Given the description of an element on the screen output the (x, y) to click on. 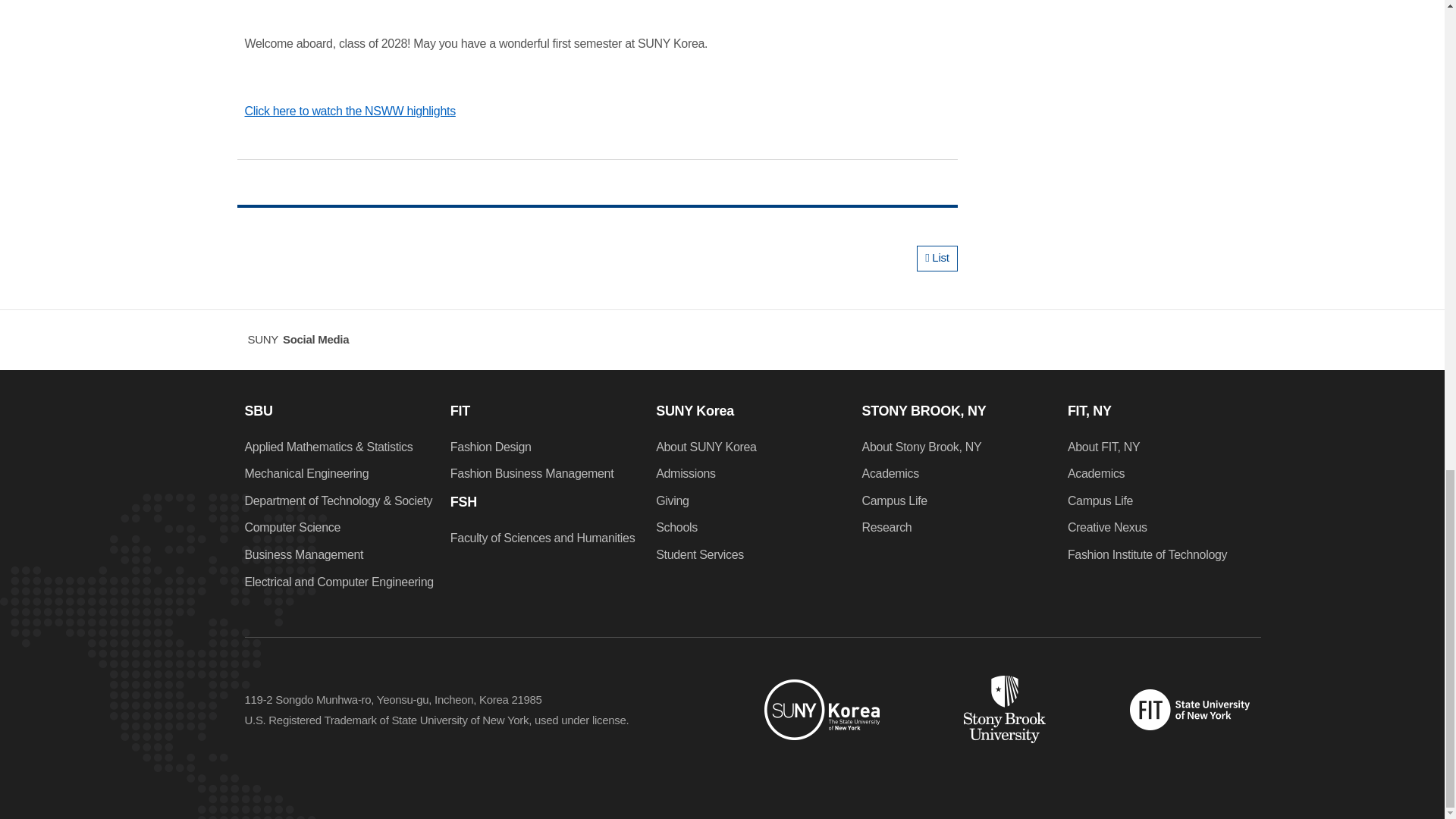
List (936, 258)
Mechanical Engineering (306, 472)
Click here to watch the NSWW highlight (346, 110)
